Given the description of an element on the screen output the (x, y) to click on. 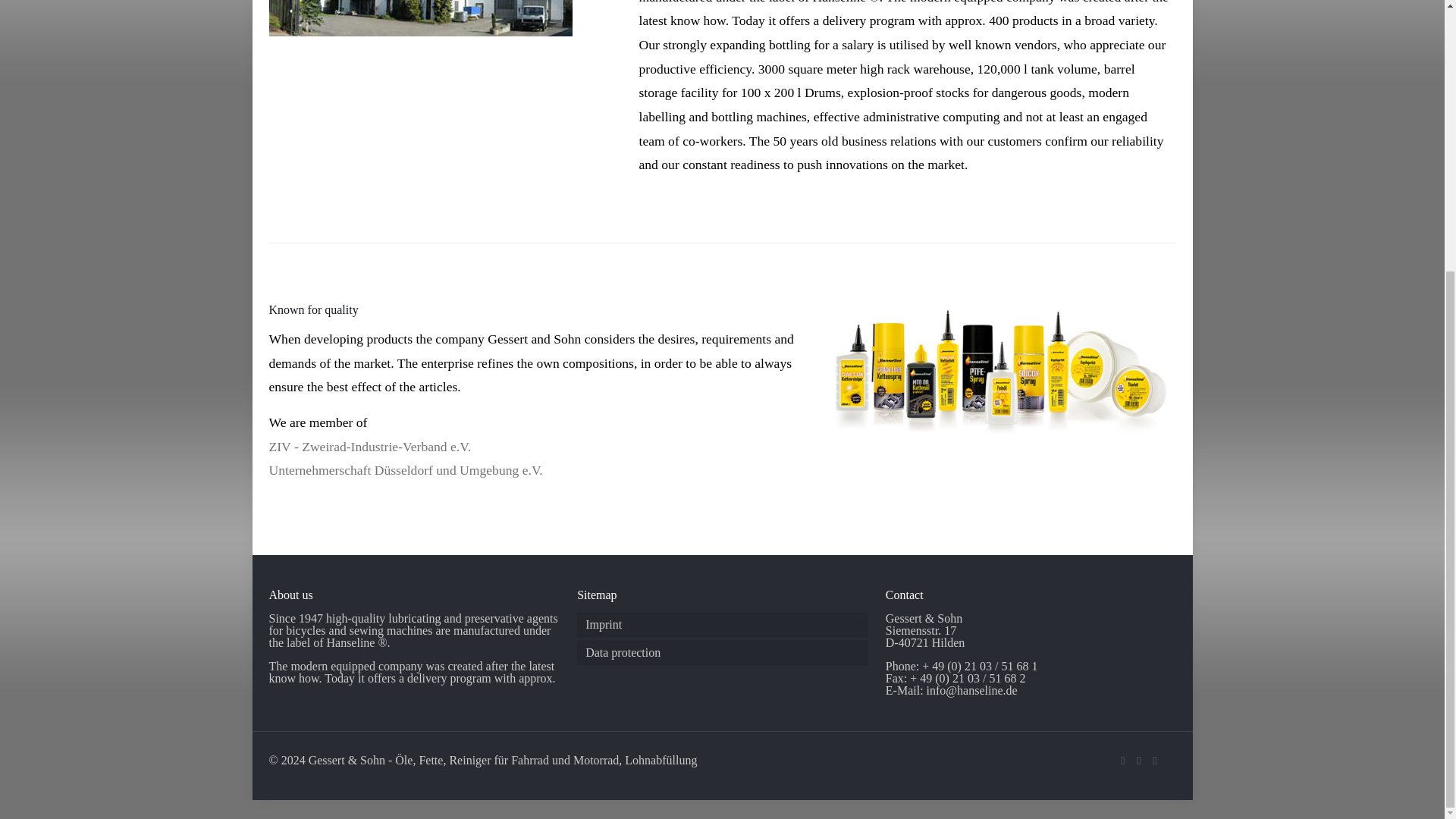
ZIV - Zweirad-Industrie-Verband e.V. (368, 446)
Data protection (721, 652)
Instagram (1155, 760)
Facebook (1123, 760)
Imprint (721, 624)
